Given the description of an element on the screen output the (x, y) to click on. 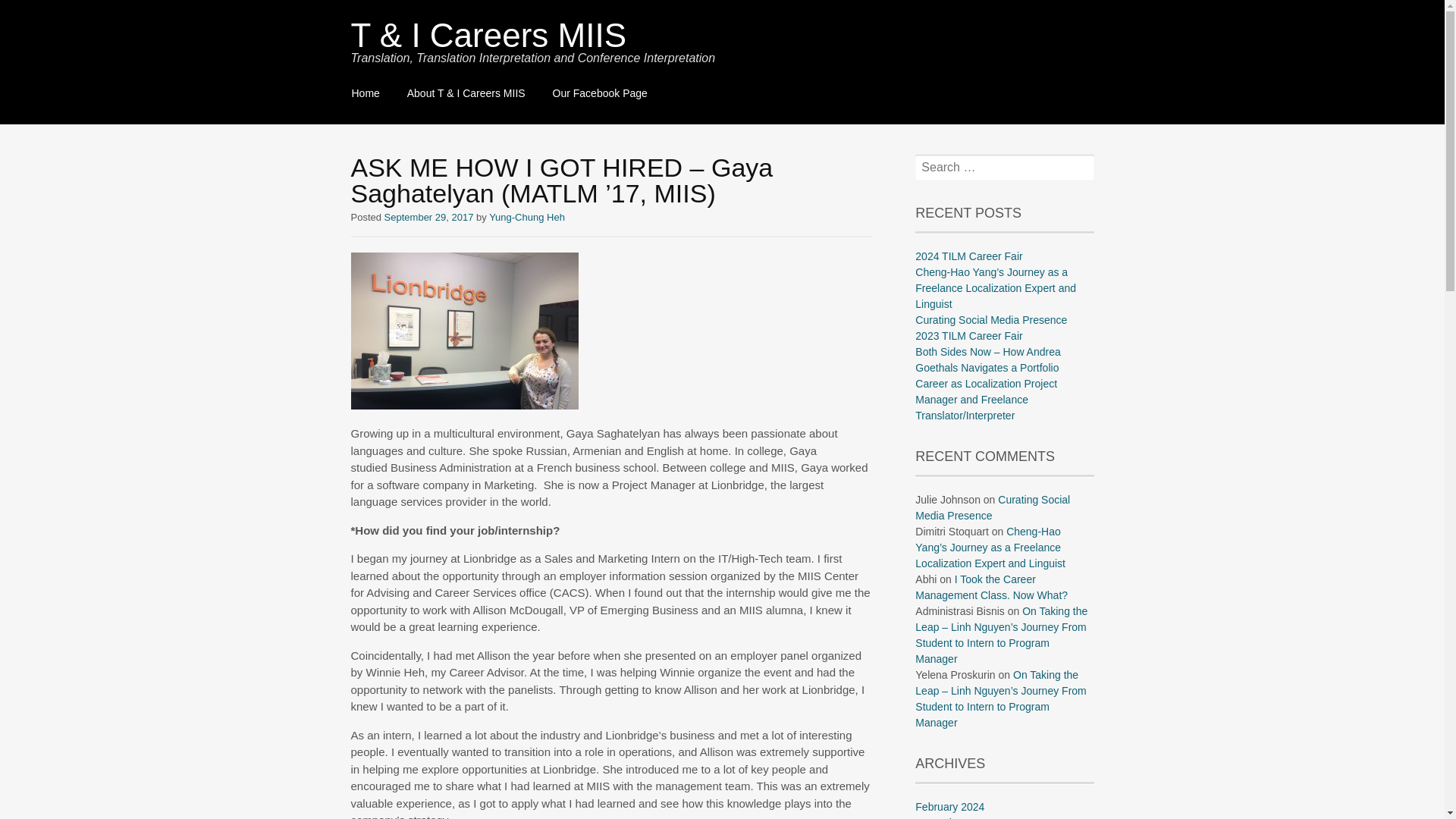
Yung-Chung Heh (526, 216)
2024 TILM Career Fair (968, 256)
Our Facebook Page (599, 93)
2023 TILM Career Fair (968, 336)
September 29, 2017 (429, 216)
Search (33, 12)
Curating Social Media Presence (991, 319)
November 2023 (953, 817)
Skip to content (351, 85)
Curating Social Media Presence (992, 507)
View all posts by Yung-Chung Heh (526, 216)
Home (365, 93)
I Took the Career Management Class. Now What? (991, 587)
February 2024 (949, 806)
